Given the description of an element on the screen output the (x, y) to click on. 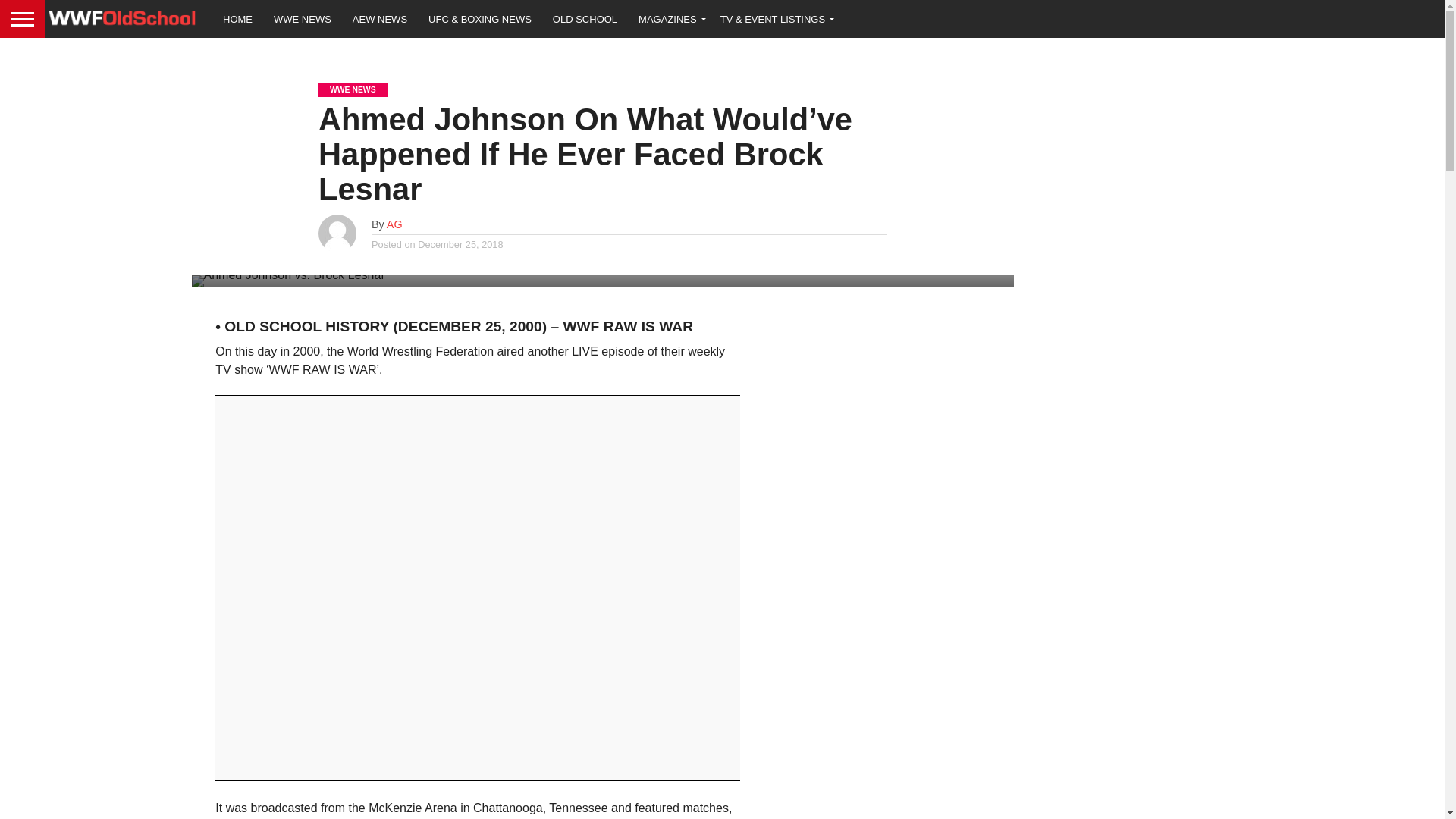
OLD SCHOOL (584, 18)
MAGAZINES (668, 18)
Posts by AG (395, 224)
WWE NEWS (302, 18)
AEW NEWS (379, 18)
HOME (237, 18)
